Given the description of an element on the screen output the (x, y) to click on. 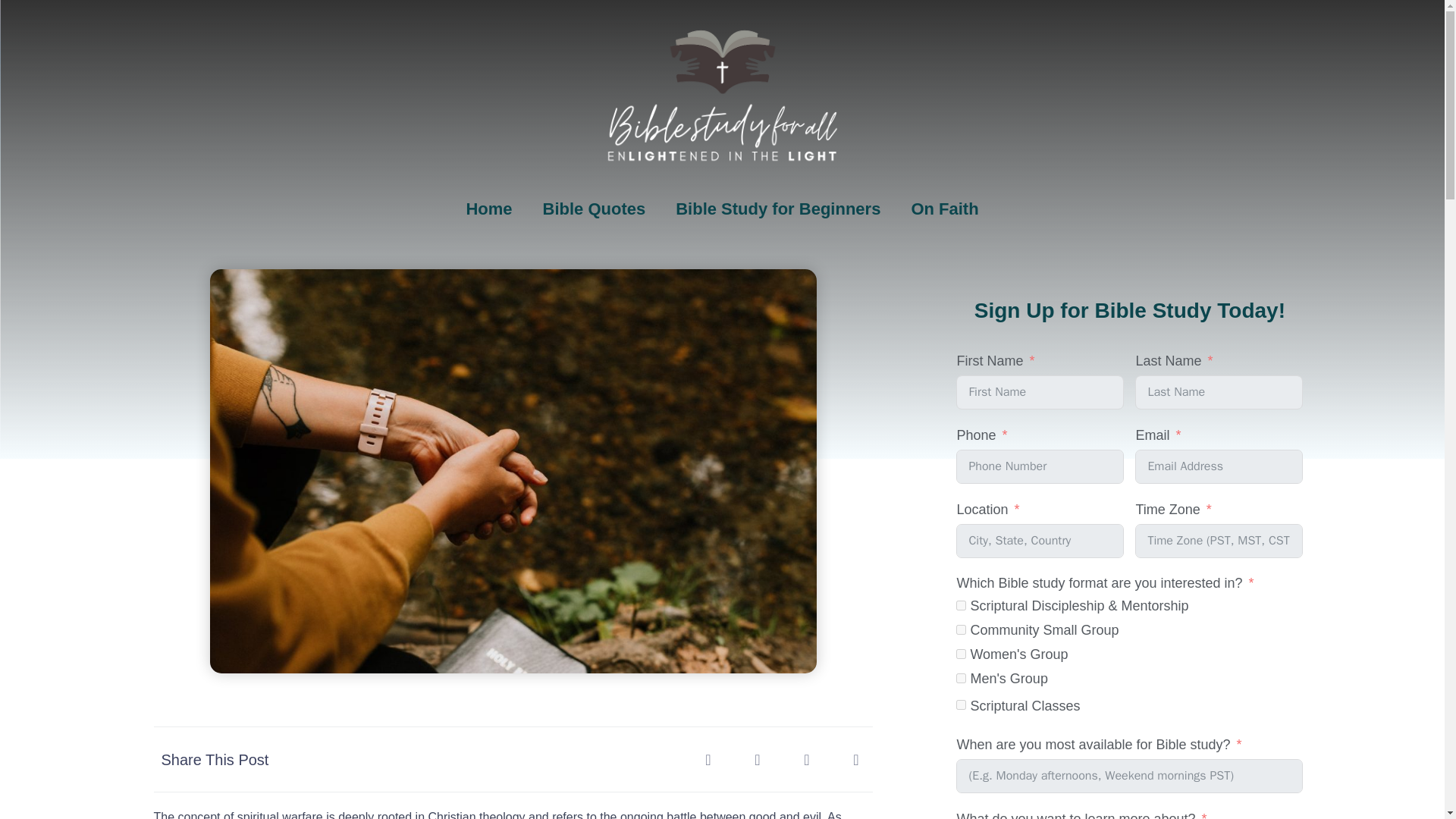
Women's Group (961, 654)
Scriptural Classes (961, 705)
Bible Quotes (594, 208)
Bible Study for Beginners (778, 208)
Home (488, 208)
Community Small Group  (961, 629)
Men's Group (961, 678)
On Faith (943, 208)
